Given the description of an element on the screen output the (x, y) to click on. 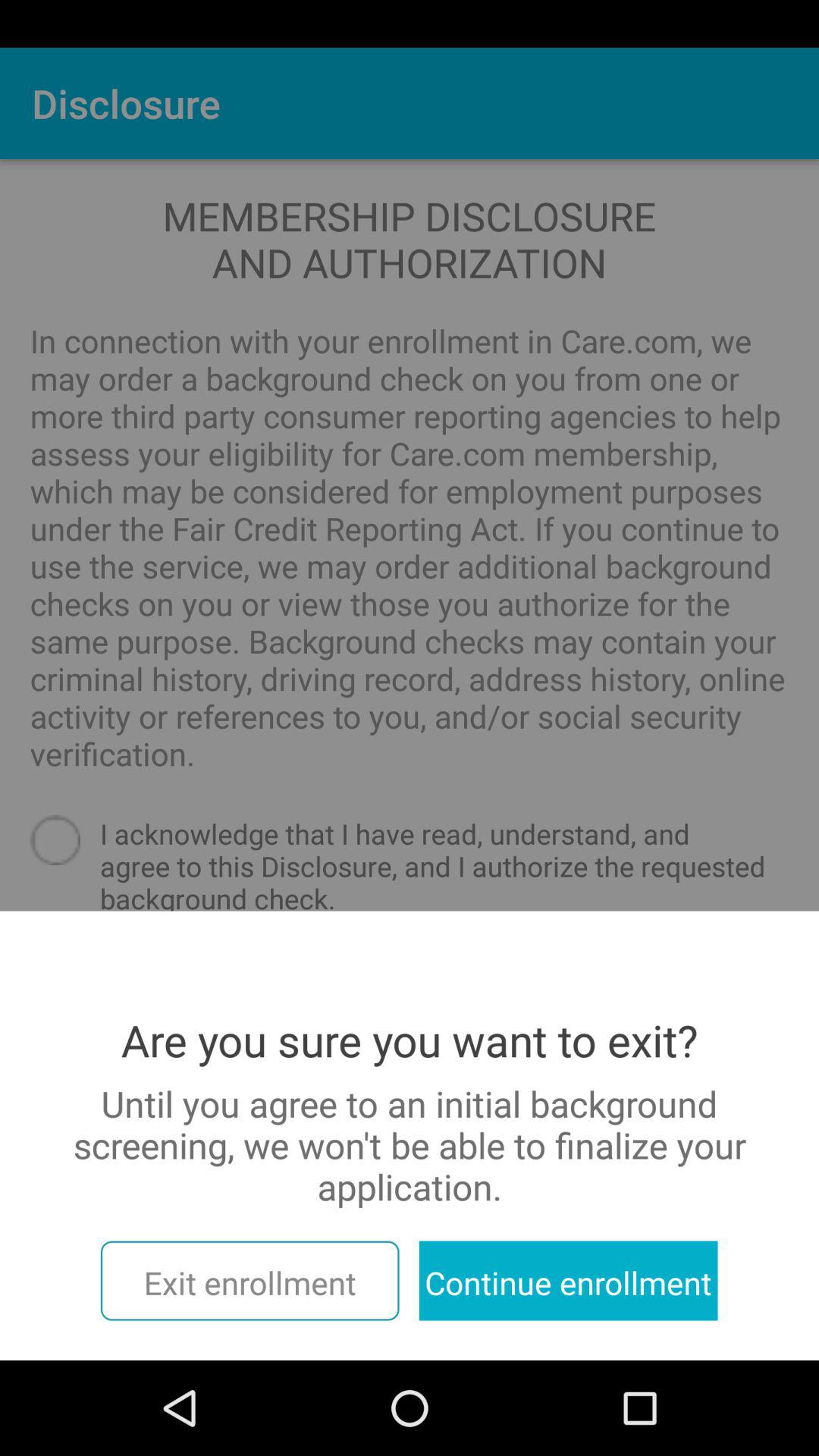
select icon next to the exit enrollment icon (568, 1280)
